Given the description of an element on the screen output the (x, y) to click on. 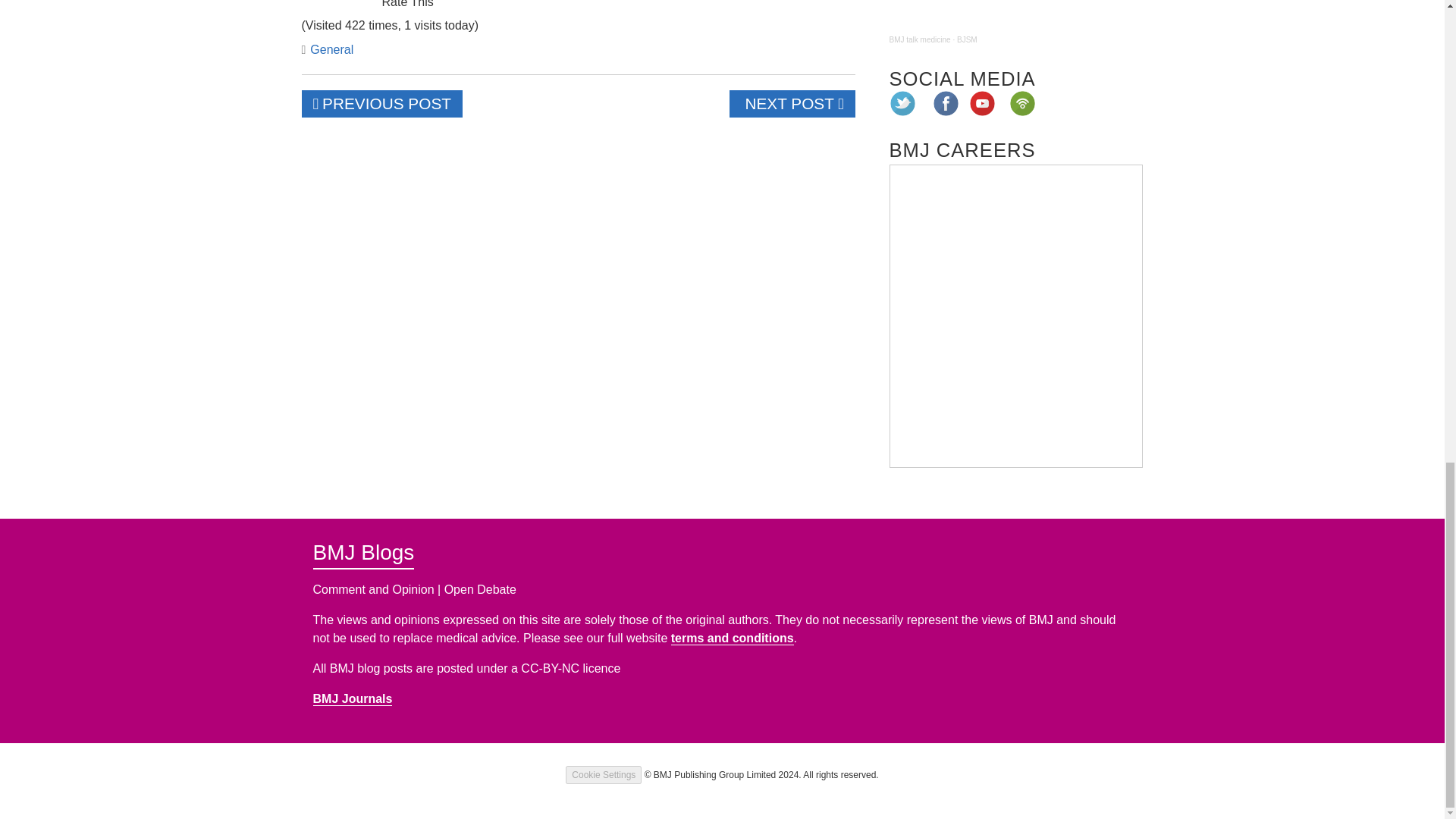
Twitter (901, 103)
PREVIOUS POST (382, 103)
 NEXT POST (792, 103)
General (330, 49)
BJSM Podcast (1015, 14)
BMJ talk medicine (919, 40)
Facebook (946, 103)
BJSM (966, 40)
Youtube (982, 103)
